Given the description of an element on the screen output the (x, y) to click on. 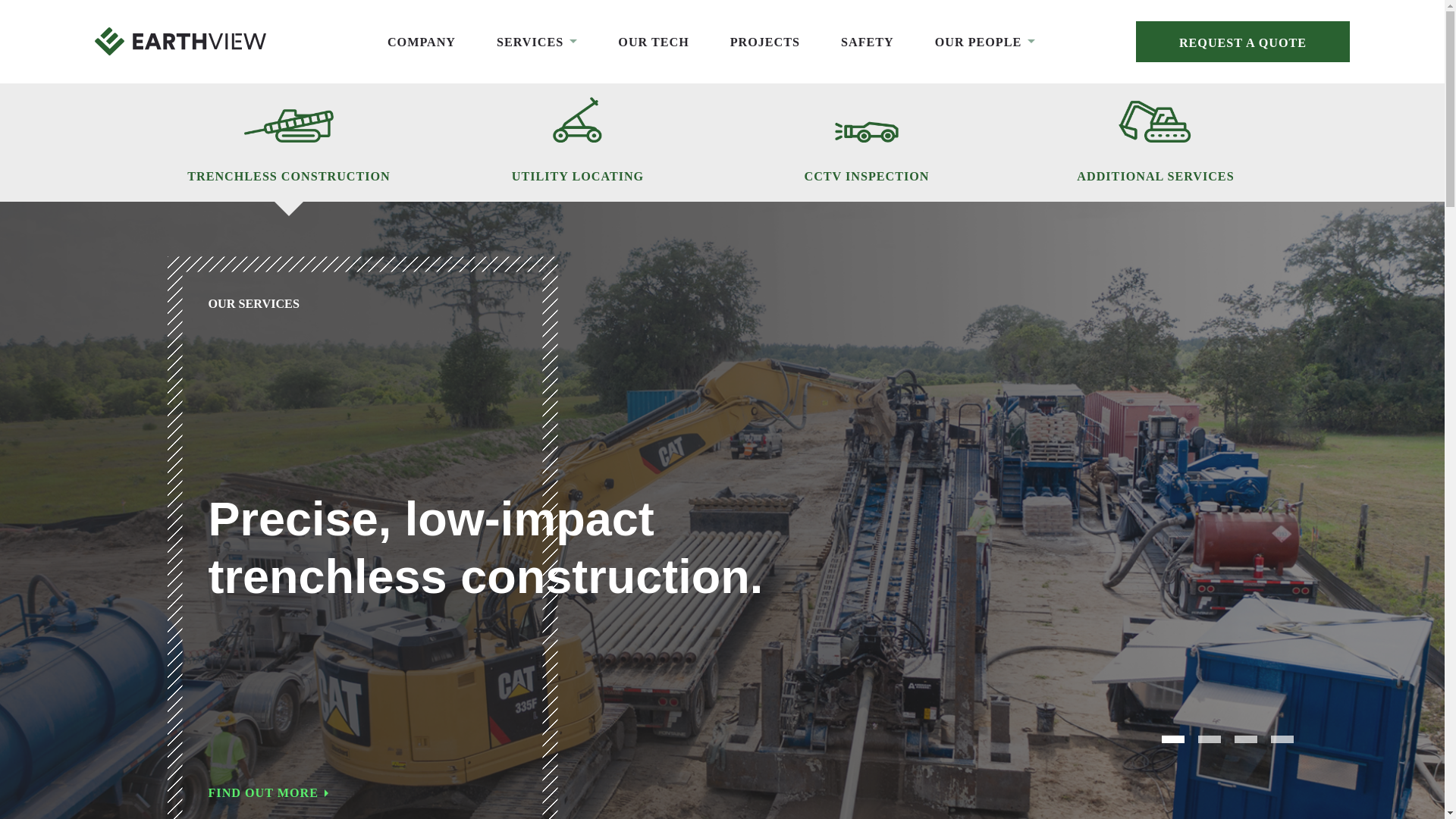
3 (1245, 738)
OUR PEOPLE (984, 42)
4 (1282, 738)
SAFETY (867, 42)
OUR TECH (652, 42)
2 (1209, 738)
1 (1173, 738)
PROJECTS (764, 42)
FIND OUT MORE (529, 793)
SERVICES (536, 42)
REQUEST A QUOTE (1242, 41)
COMPANY (421, 42)
